Given the description of an element on the screen output the (x, y) to click on. 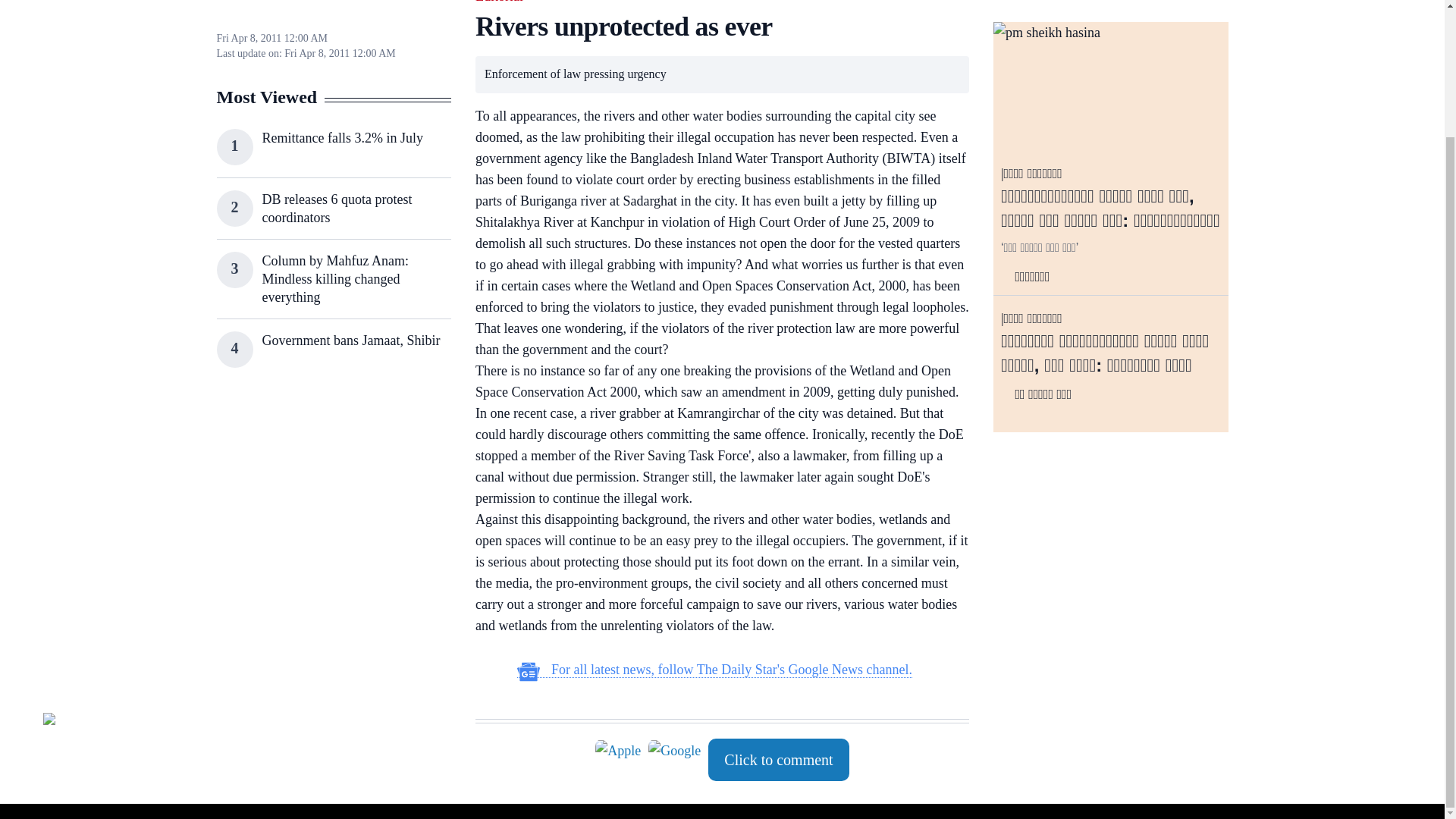
pm sheikh hasina (1110, 87)
